Given the description of an element on the screen output the (x, y) to click on. 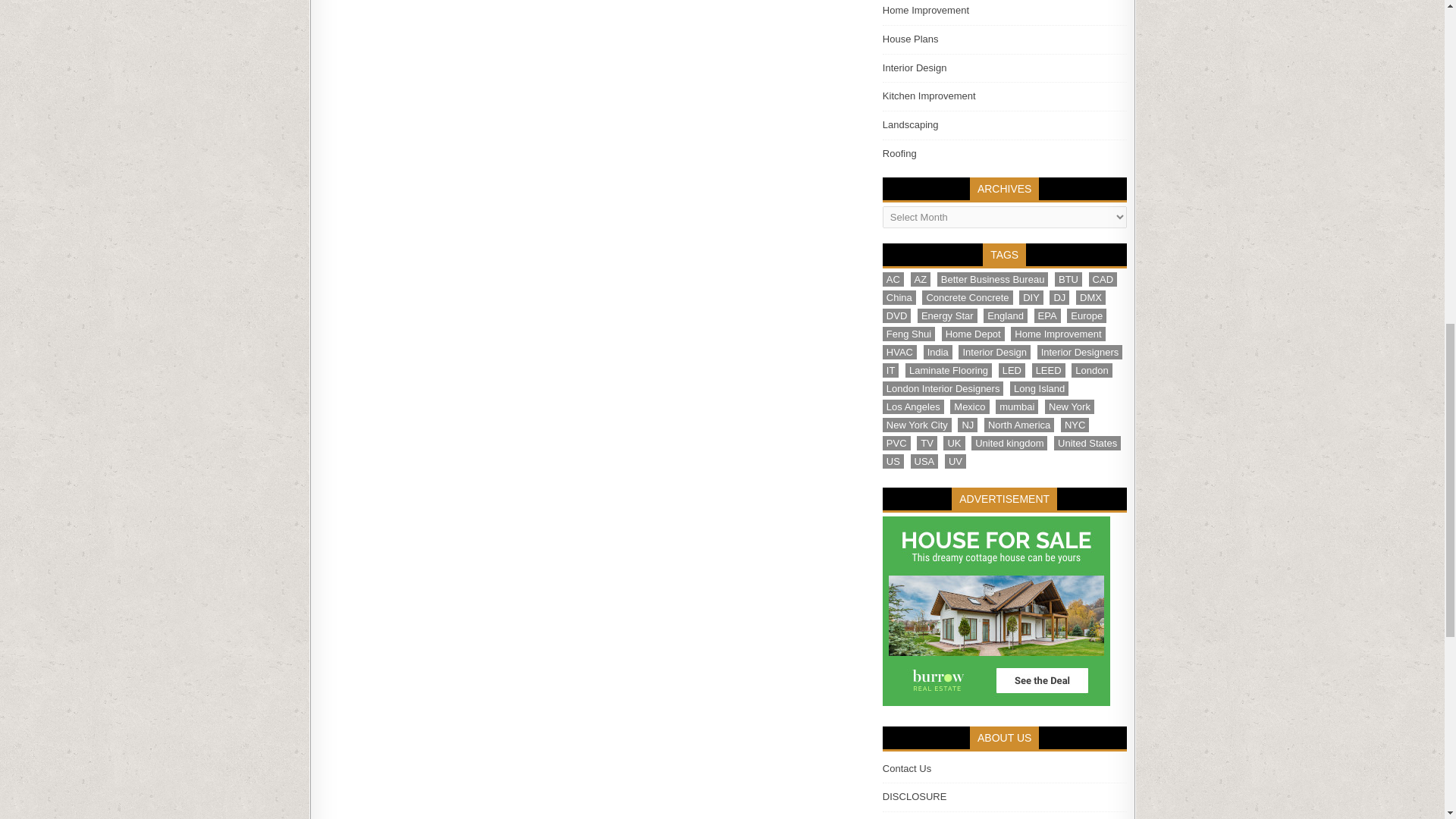
Kitchen Improvement (928, 95)
Interior Design (914, 67)
Home Improvement (925, 9)
Landscaping (910, 124)
Roofing (899, 153)
House Plans (910, 39)
